Given the description of an element on the screen output the (x, y) to click on. 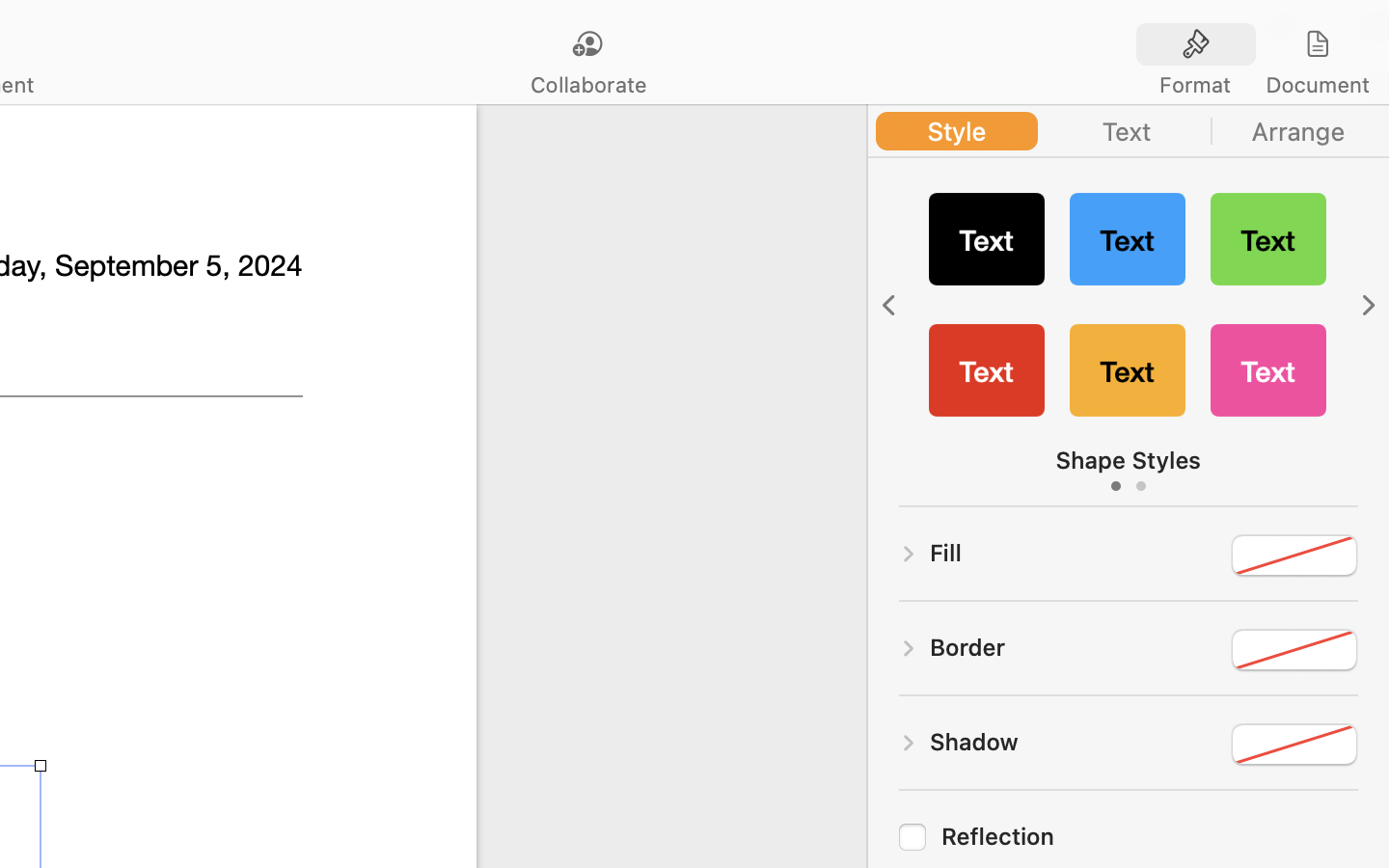
Document Element type: AXStaticText (1316, 84)
Format Element type: AXStaticText (1194, 84)
Shadow Element type: AXStaticText (974, 741)
